Given the description of an element on the screen output the (x, y) to click on. 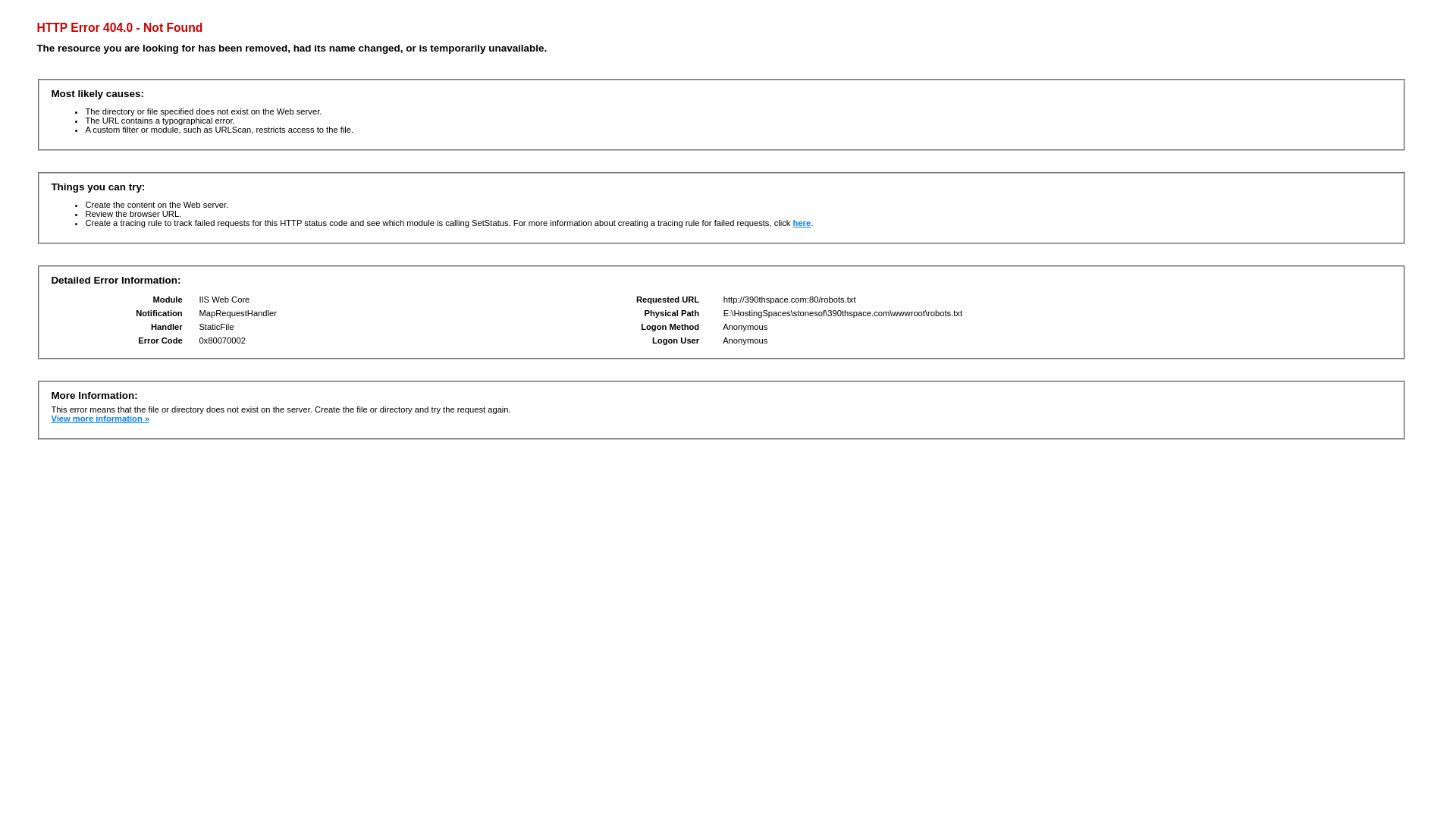
here Element type: text (802, 222)
